Given the description of an element on the screen output the (x, y) to click on. 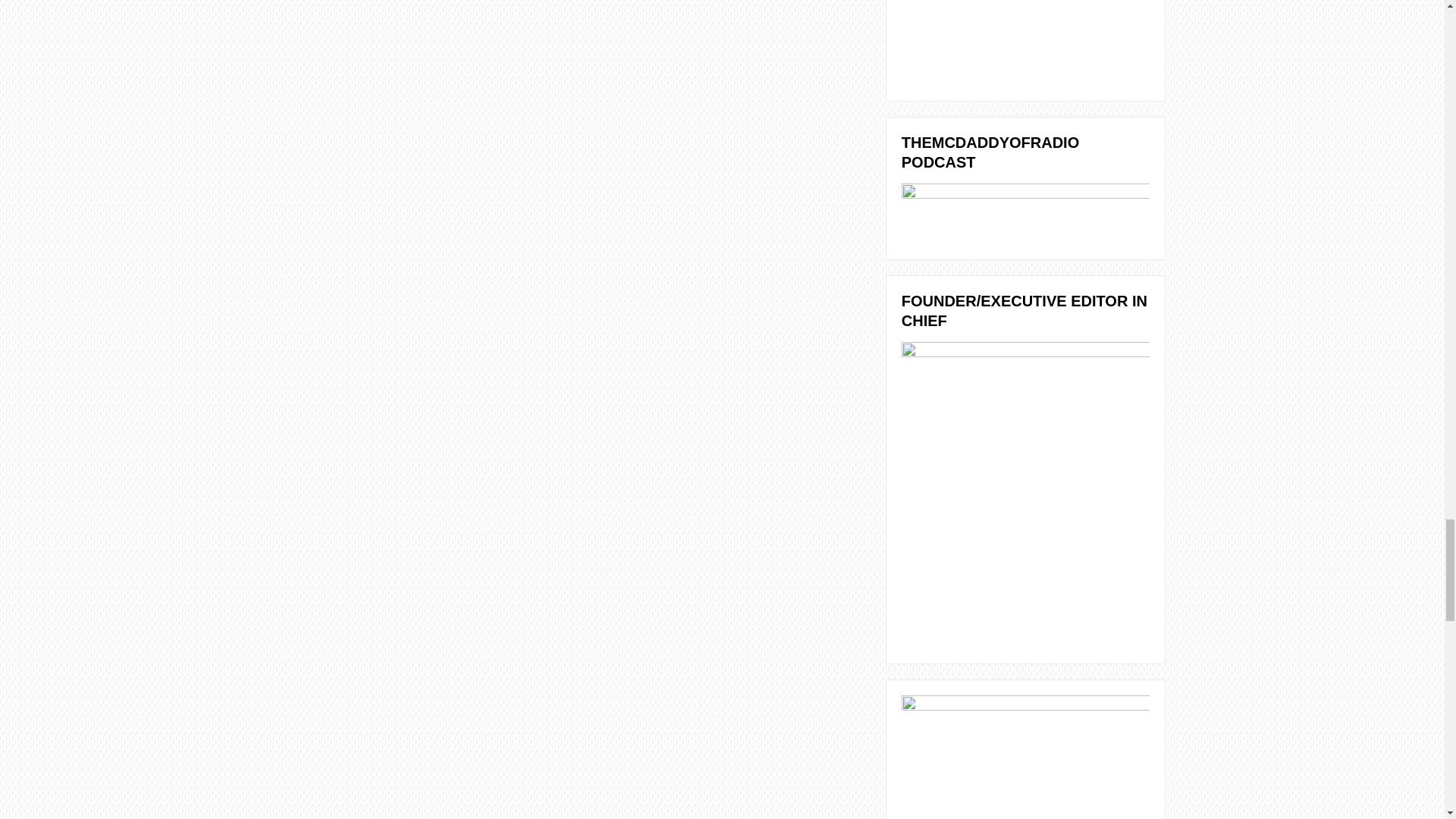
THEMCDADDYOFRADIO PODCAST (1025, 213)
